Given the description of an element on the screen output the (x, y) to click on. 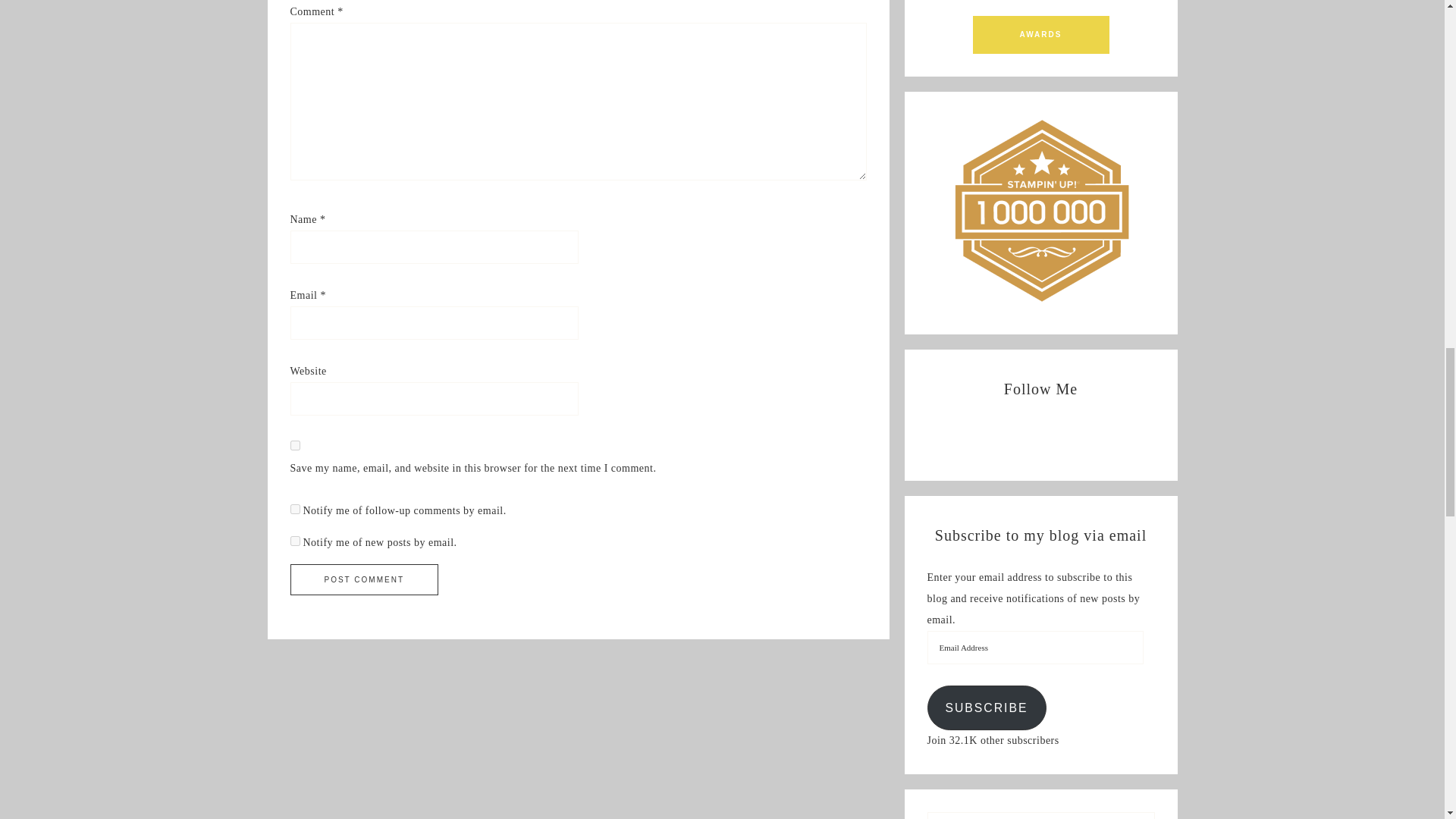
subscribe (294, 508)
subscribe (294, 540)
Post Comment (363, 579)
yes (294, 444)
